Given the description of an element on the screen output the (x, y) to click on. 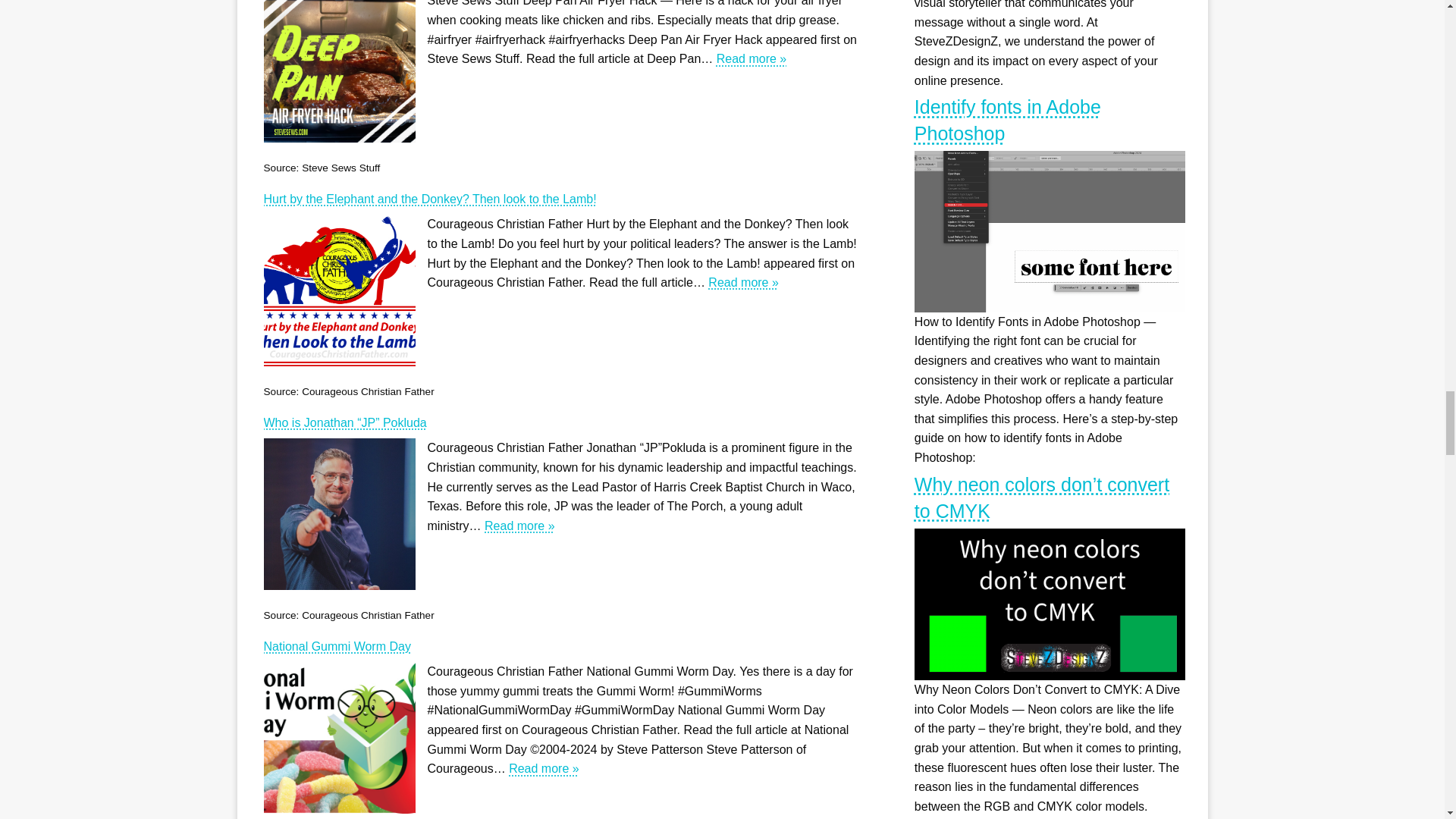
Hurt by the Elephant and the Donkey? Then look to the Lamb! (560, 199)
